Given the description of an element on the screen output the (x, y) to click on. 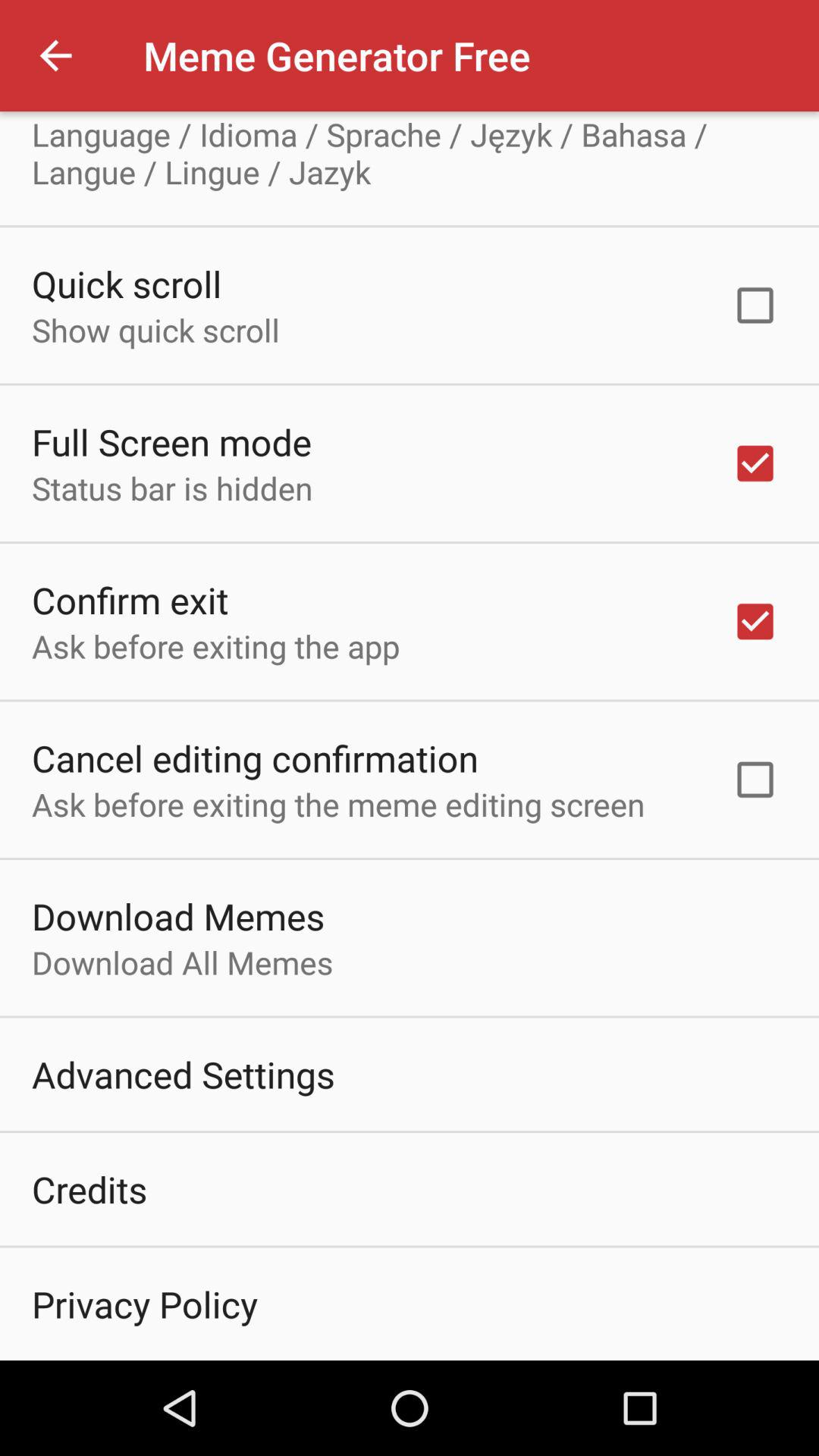
tap item above language idioma sprache (160, 111)
